Given the description of an element on the screen output the (x, y) to click on. 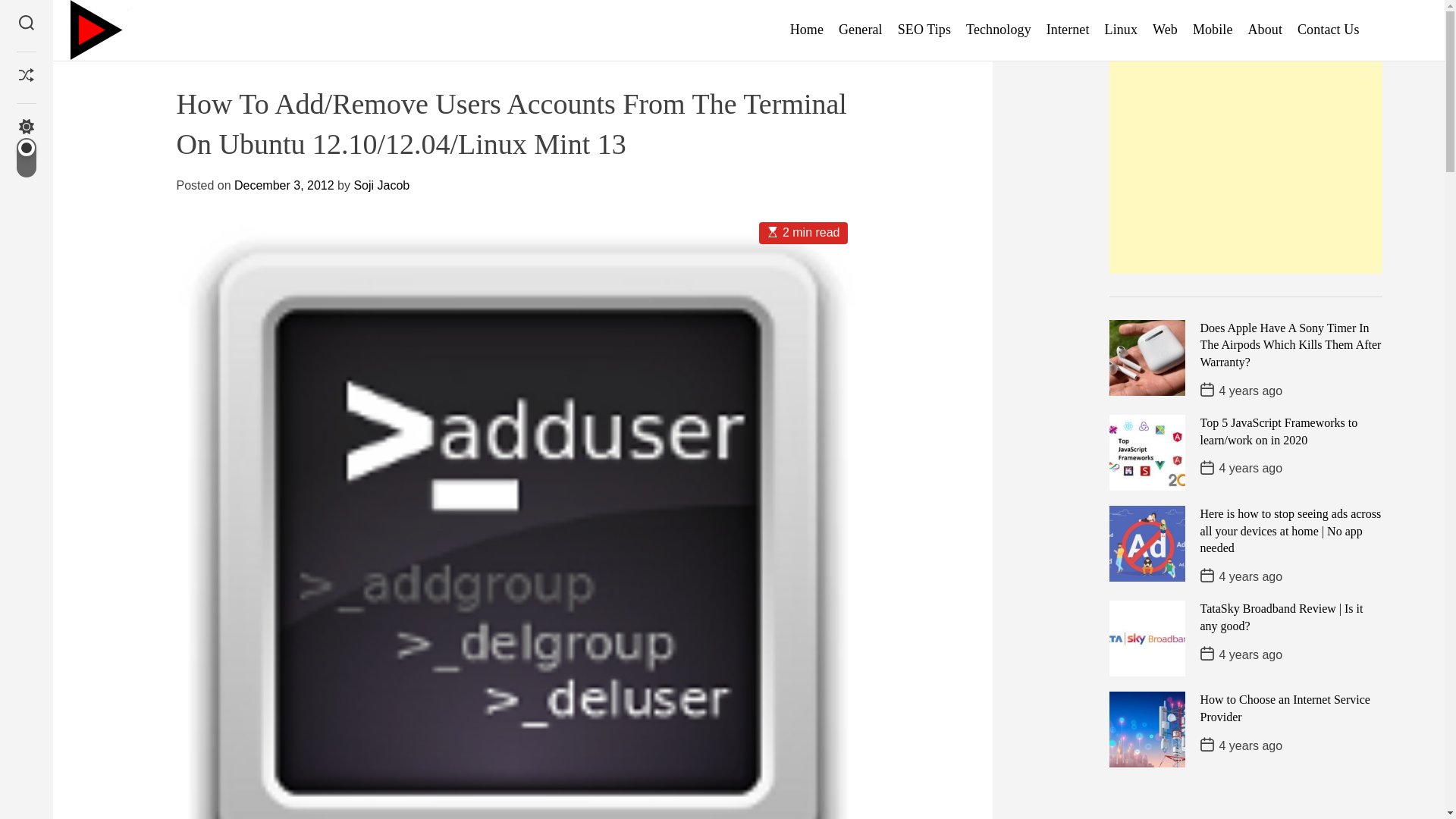
Search (26, 24)
General (860, 29)
About (1264, 29)
Advertisement (1244, 167)
Soji Jacob (381, 185)
Contact Us (1328, 29)
SEO Tips (924, 29)
Home (807, 29)
Mobile (1212, 29)
